Given the description of an element on the screen output the (x, y) to click on. 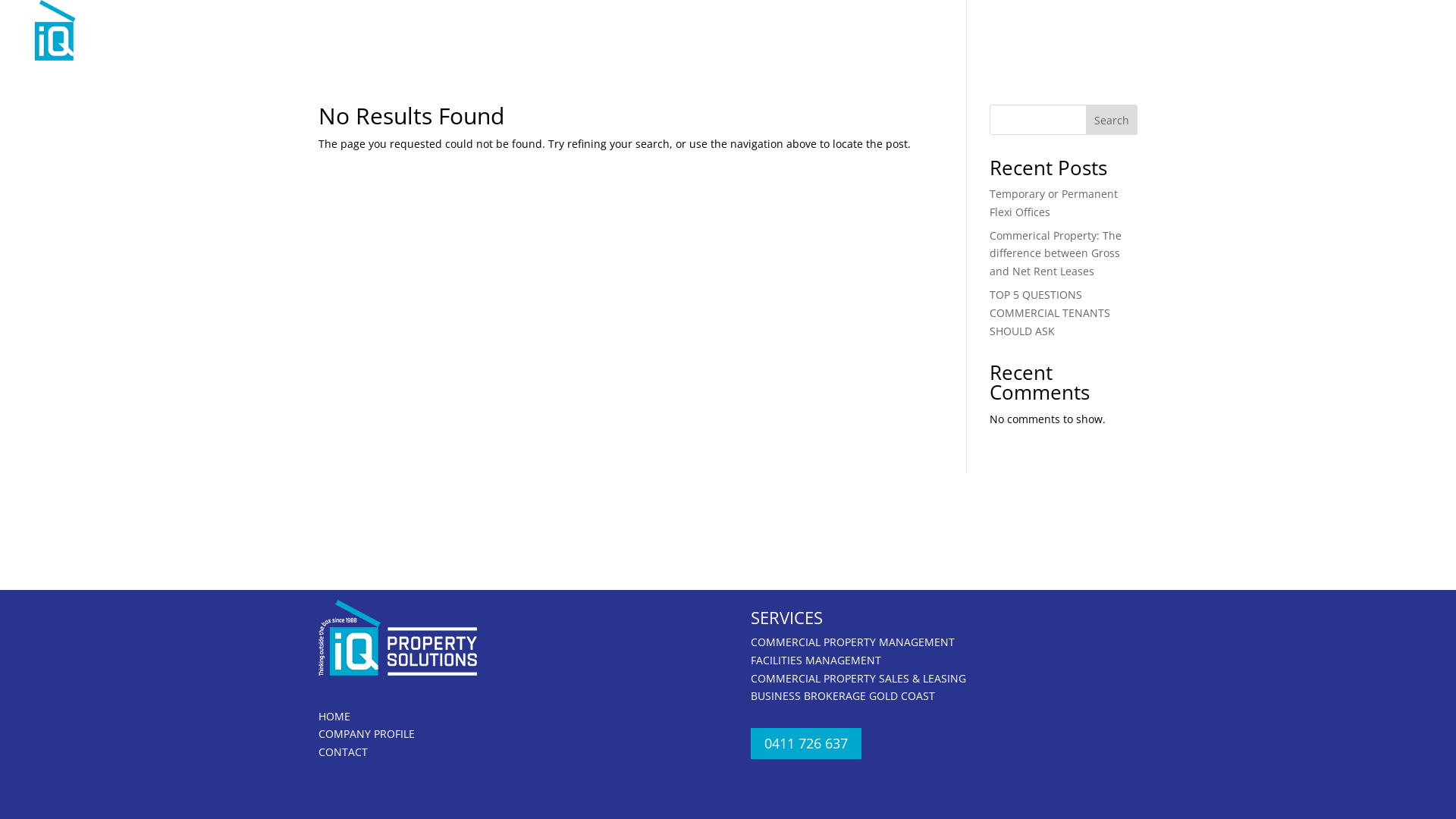
BUSINESS BROKERAGE GOLD COAST Element type: text (842, 695)
BLOG Element type: text (1341, 36)
COMMERCIAL PROPERTY SALES & LEASING Element type: text (858, 678)
Search Element type: text (1111, 119)
0411 726 637 Element type: text (805, 743)
COMMERCIAL PROPERTY MANAGEMENT Element type: text (852, 641)
SERVICES Element type: text (1273, 36)
CONTACT Element type: text (342, 751)
TOP 5 QUESTIONS COMMERCIAL TENANTS SHOULD ASK Element type: text (1049, 312)
FACILITIES MANAGEMENT Element type: text (815, 659)
CONTACT Element type: text (1404, 36)
Temporary or Permanent Flexi Offices Element type: text (1053, 202)
HOME Element type: text (334, 716)
COMPANY PROFILE Element type: text (366, 733)
HOME Element type: text (1077, 36)
COMPANY PROFILE Element type: text (1167, 36)
